Given the description of an element on the screen output the (x, y) to click on. 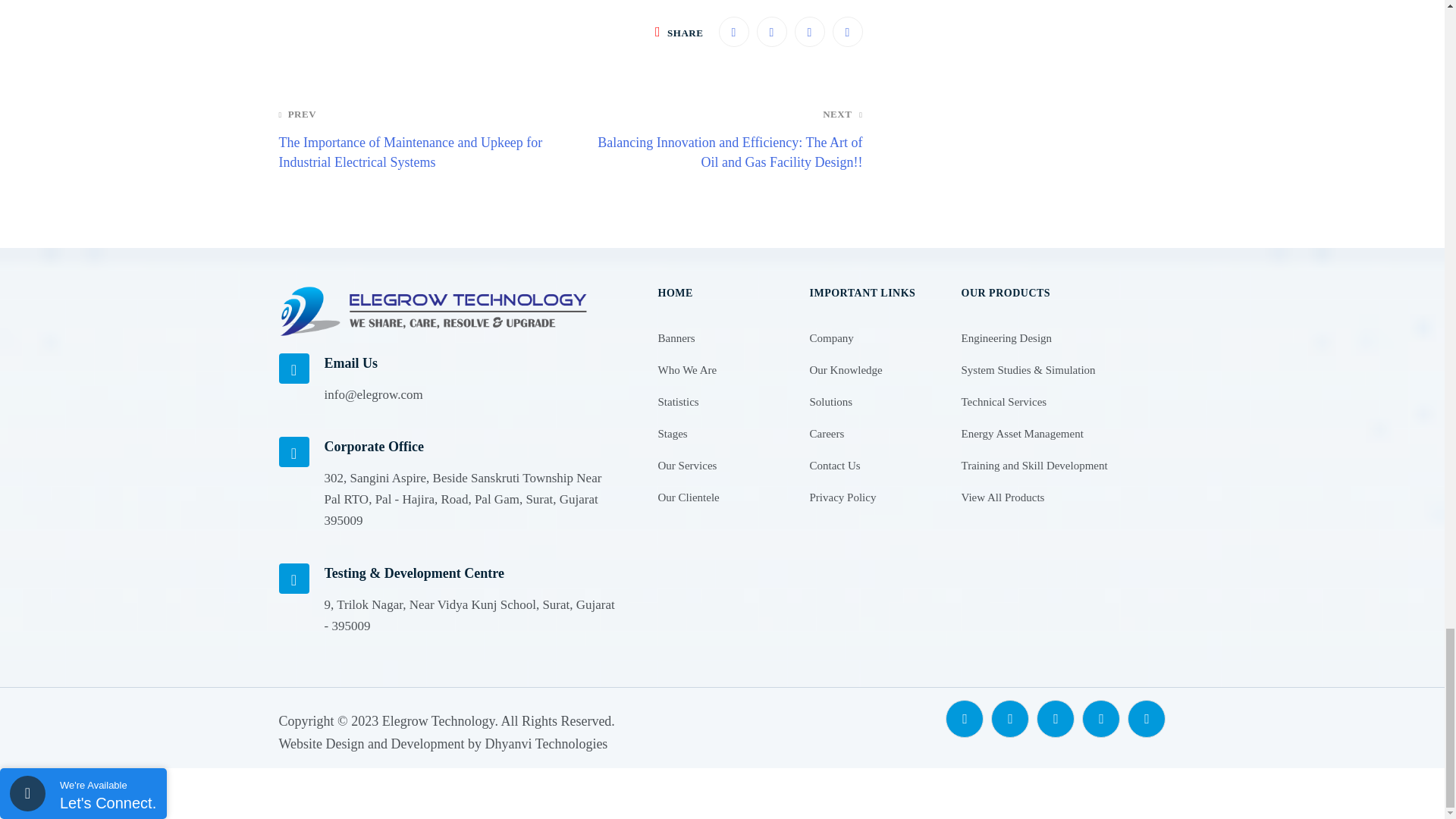
Let's Connect.  (108, 803)
We're Available (108, 785)
